Given the description of an element on the screen output the (x, y) to click on. 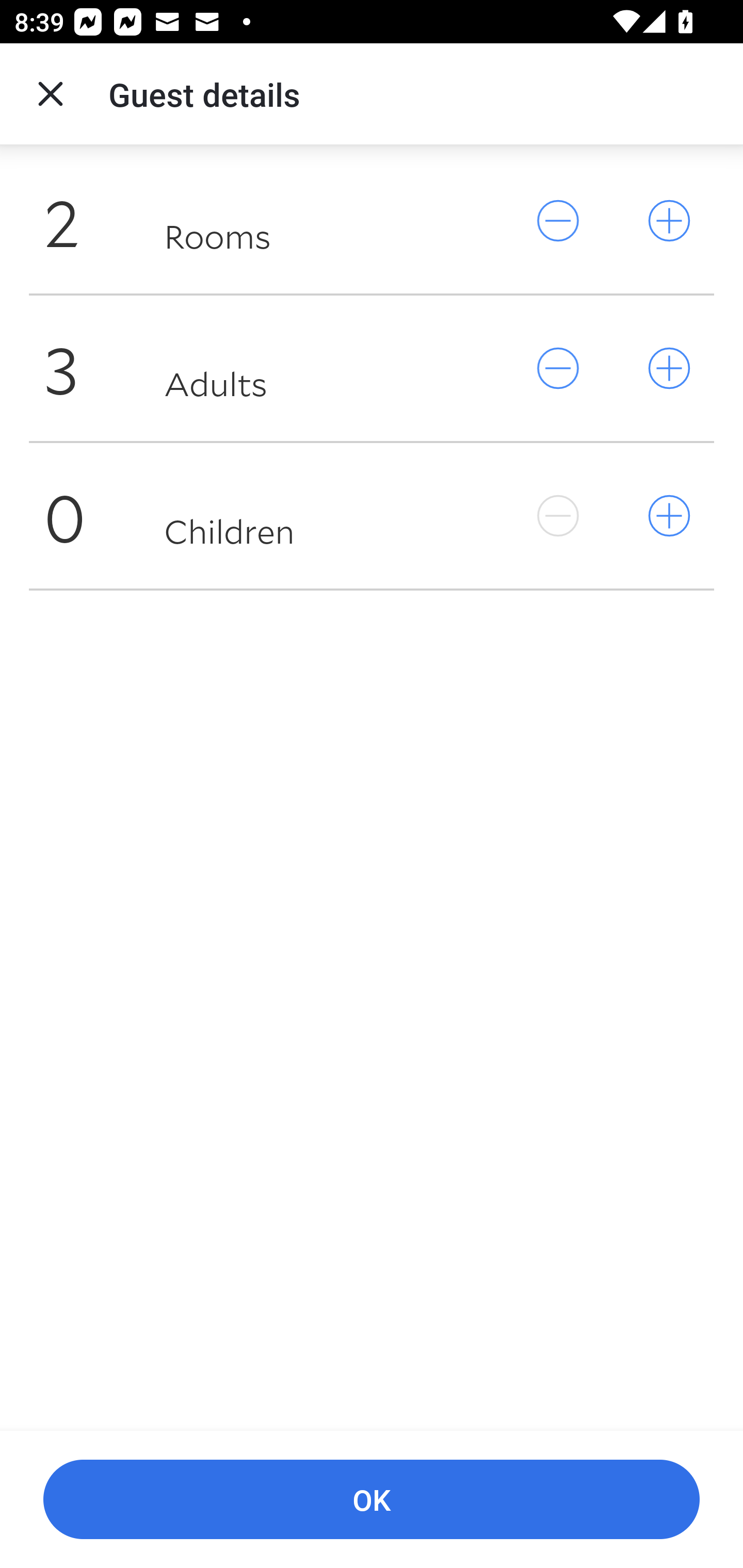
OK (371, 1499)
